Given the description of an element on the screen output the (x, y) to click on. 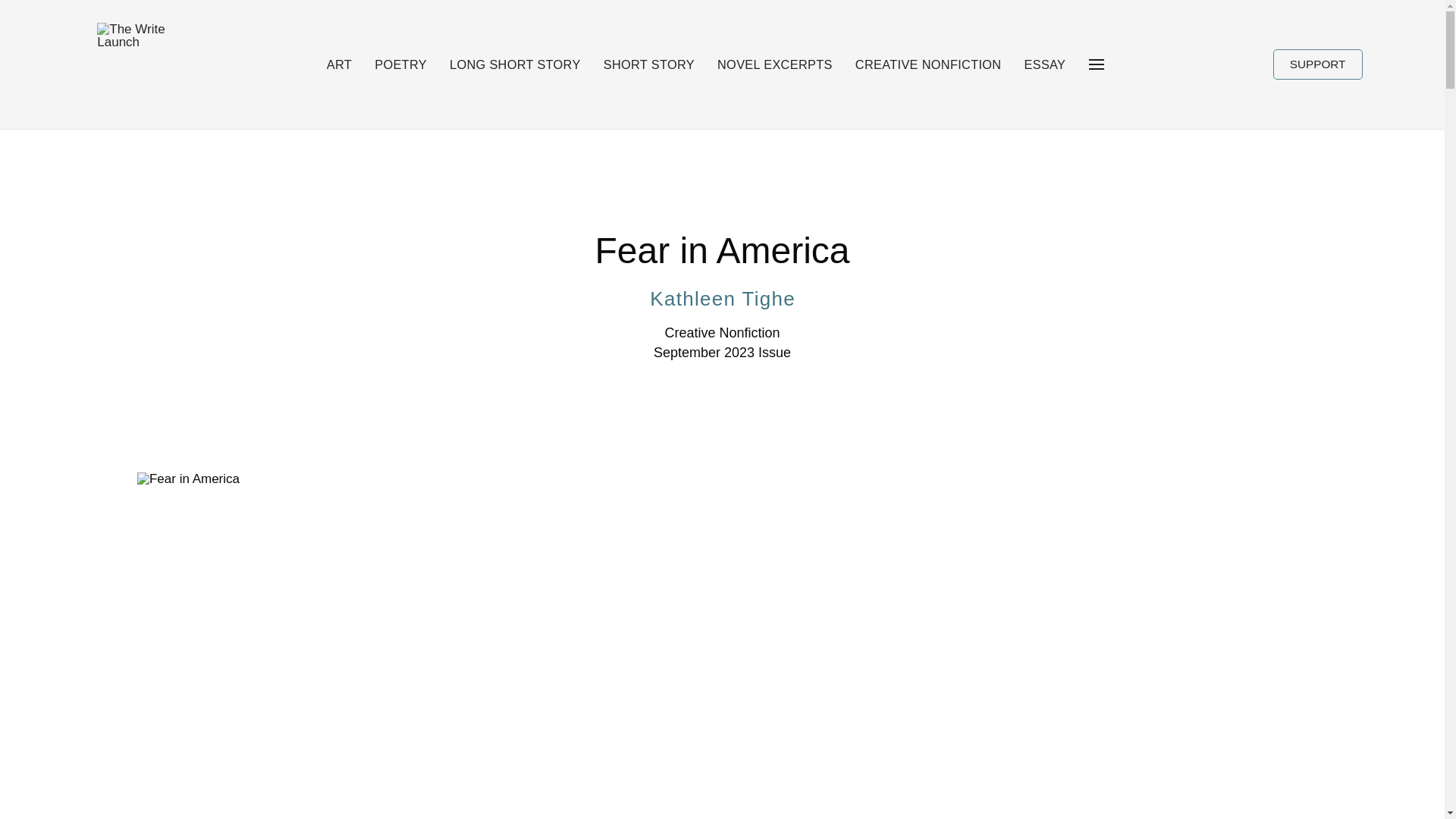
ESSAY (1045, 64)
Kathleen Tighe (721, 298)
CREATIVE NONFICTION (927, 64)
LONG SHORT STORY (514, 64)
Creative Nonfiction (720, 333)
SHORT STORY (648, 64)
September 2023 Issue (721, 352)
ART (339, 64)
SUPPORT (1317, 63)
NOVEL EXCERPTS (774, 64)
